Given the description of an element on the screen output the (x, y) to click on. 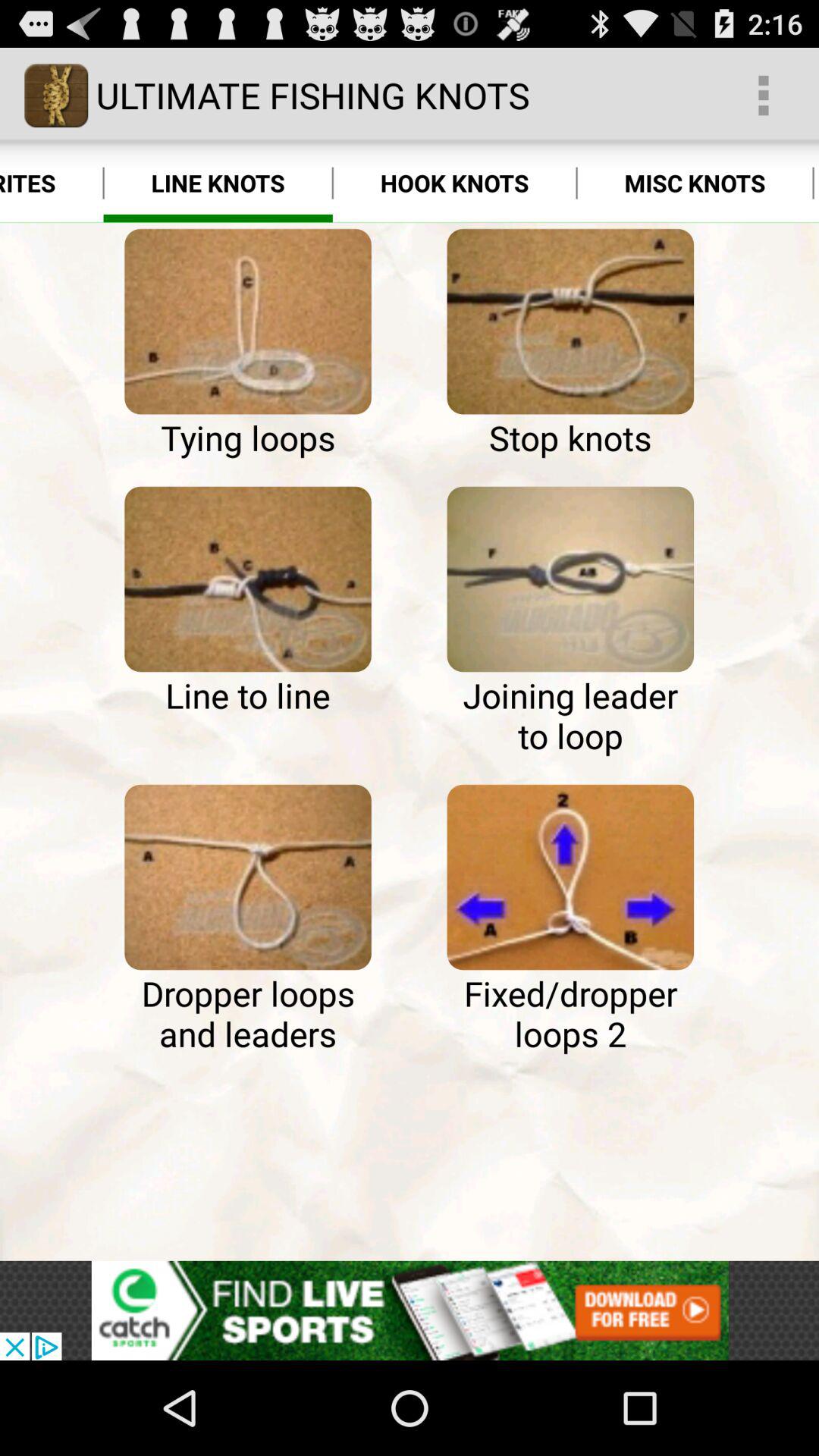
open knot instructions (570, 876)
